Given the description of an element on the screen output the (x, y) to click on. 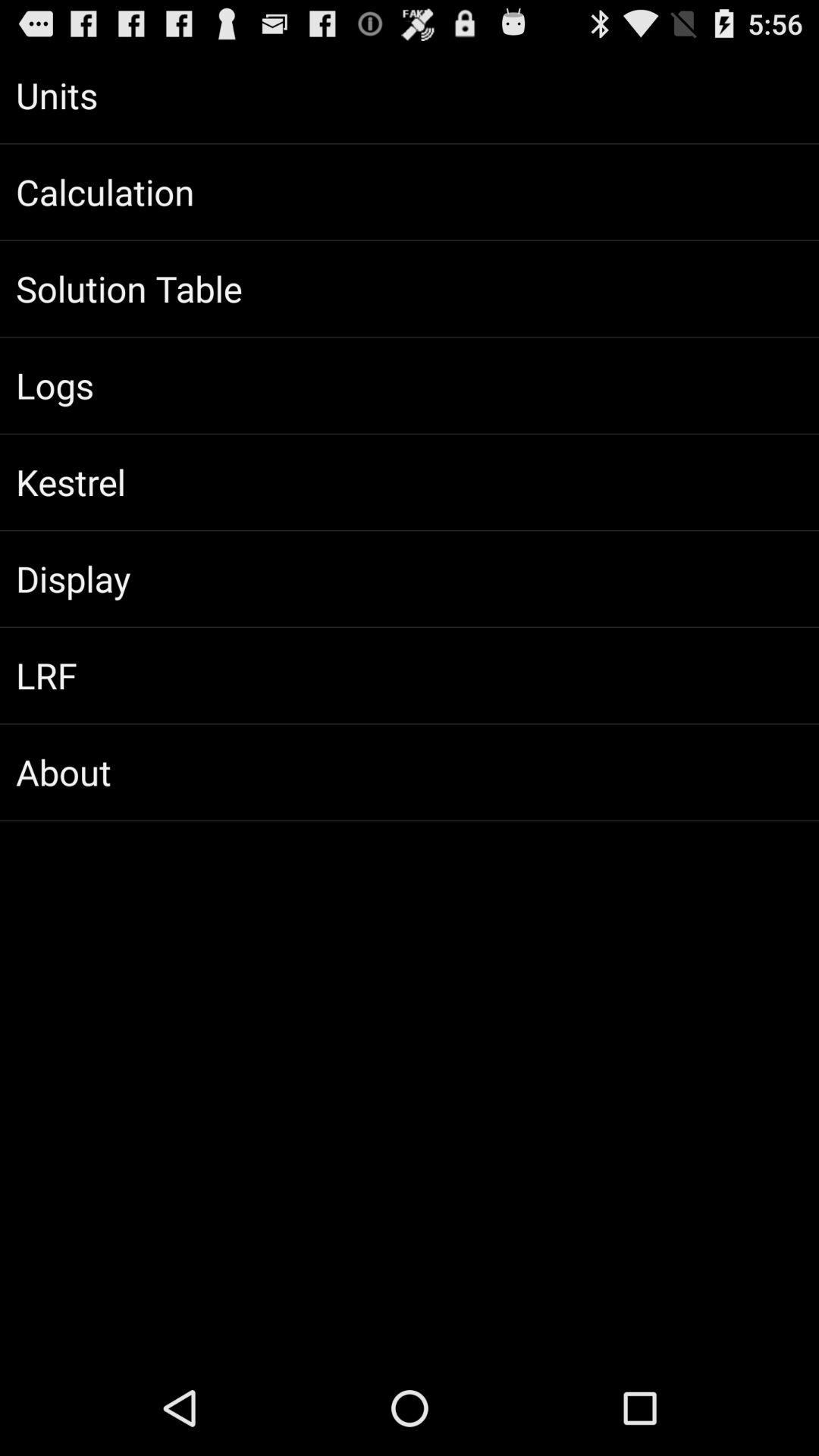
turn off the icon below units item (409, 192)
